Given the description of an element on the screen output the (x, y) to click on. 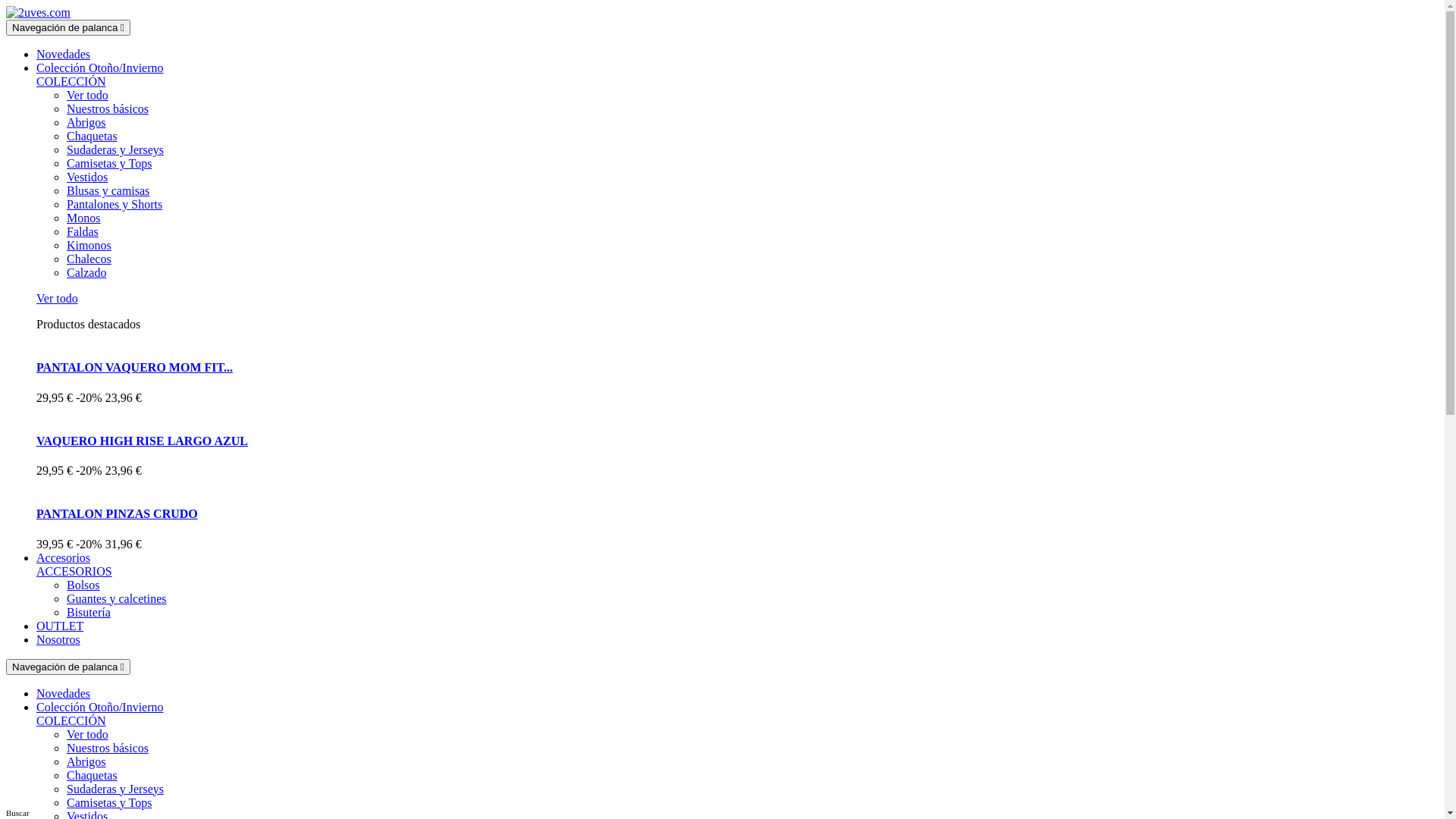
Novedades Element type: text (63, 53)
Accesorios Element type: text (63, 557)
Ver todo Element type: text (87, 94)
OUTLET Element type: text (59, 625)
Nosotros Element type: text (58, 639)
Faldas Element type: text (82, 231)
Chalecos Element type: text (88, 258)
Sudaderas y Jerseys Element type: text (114, 788)
Novedades Element type: text (63, 693)
Ver todo Element type: text (57, 297)
Calzado Element type: text (86, 272)
Blusas y camisas Element type: text (107, 190)
Camisetas y Tops Element type: text (108, 802)
Guantes y calcetines Element type: text (116, 598)
Monos Element type: text (83, 217)
Camisetas y Tops Element type: text (108, 162)
Kimonos Element type: text (88, 244)
Abrigos Element type: text (86, 761)
ACCESORIOS Element type: text (74, 570)
Bolsos Element type: text (83, 584)
Chaquetas Element type: text (91, 135)
PANTALON VAQUERO MOM FIT... Element type: text (134, 366)
Sudaderas y Jerseys Element type: text (114, 149)
Vestidos Element type: text (86, 176)
Chaquetas Element type: text (91, 774)
PANTALON PINZAS CRUDO Element type: text (116, 513)
Pantalones y Shorts Element type: text (114, 203)
Ver todo Element type: text (87, 734)
Abrigos Element type: text (86, 122)
VAQUERO HIGH RISE LARGO AZUL Element type: text (141, 440)
